Given the description of an element on the screen output the (x, y) to click on. 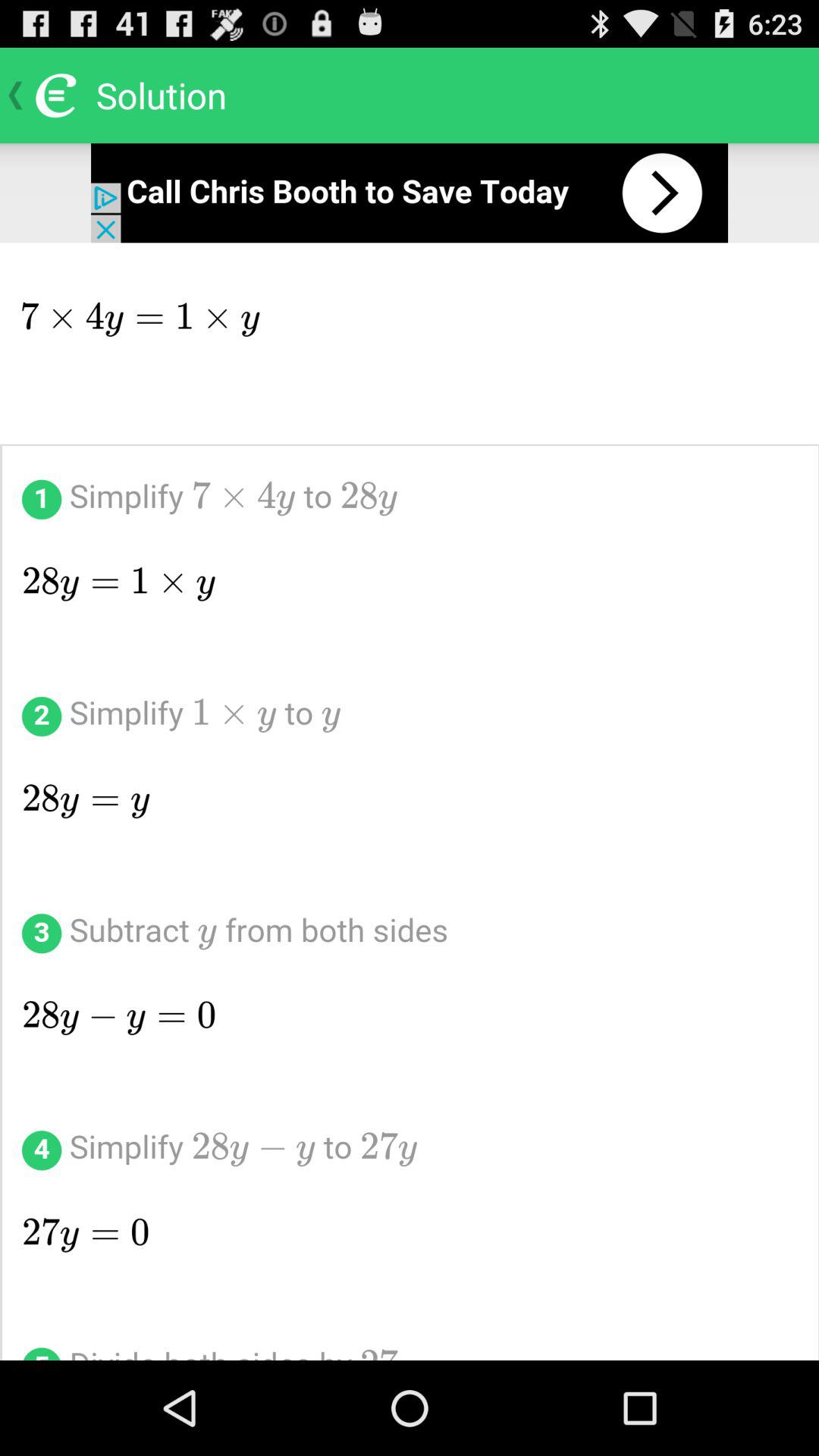
view examples (409, 801)
